Given the description of an element on the screen output the (x, y) to click on. 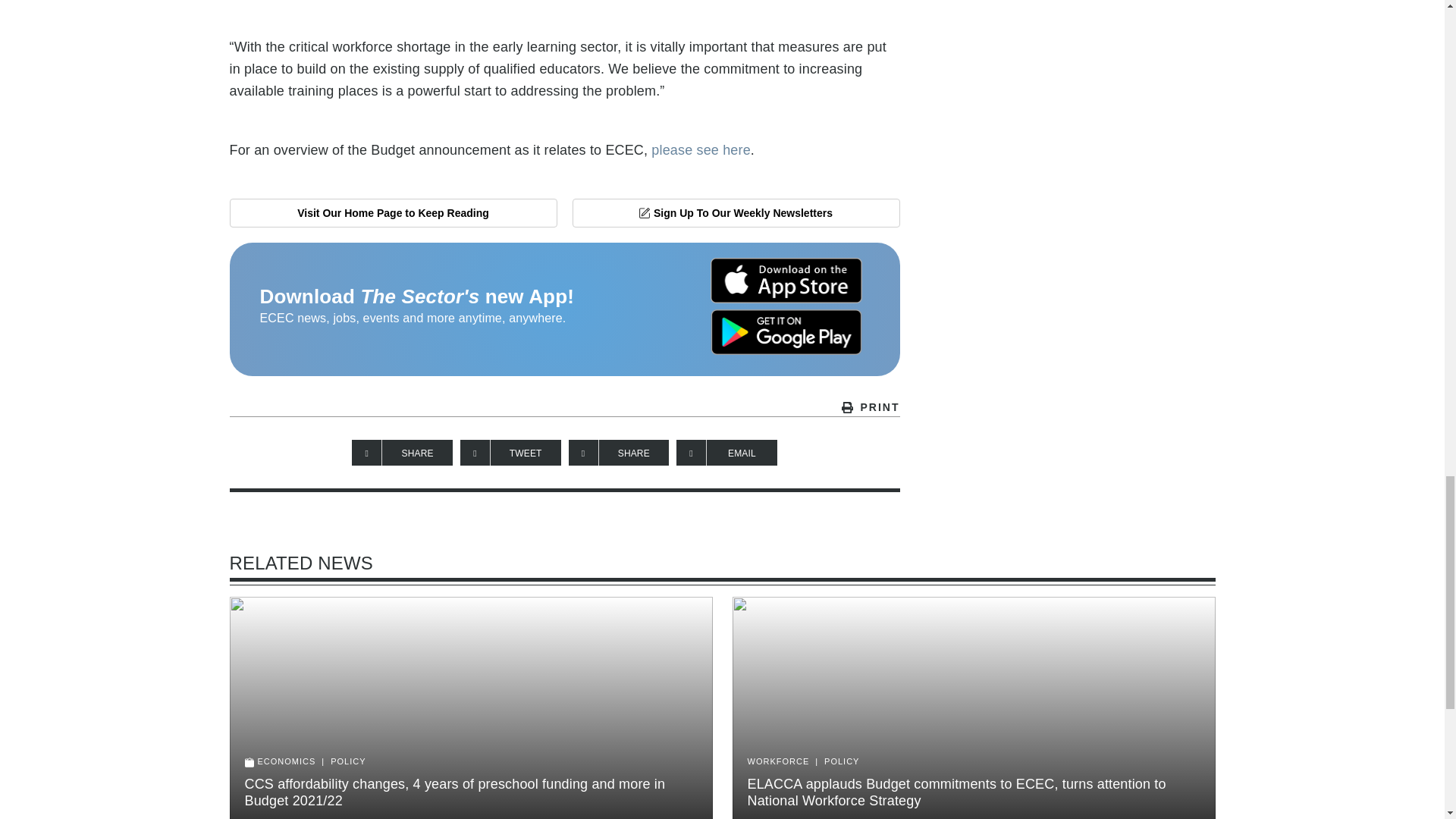
please see here (700, 150)
Visit Our Home Page to Keep Reading (392, 213)
Share on Email (727, 452)
Share on LinkedIn (619, 452)
Share on Facebook (402, 452)
Tweet (510, 452)
